Given the description of an element on the screen output the (x, y) to click on. 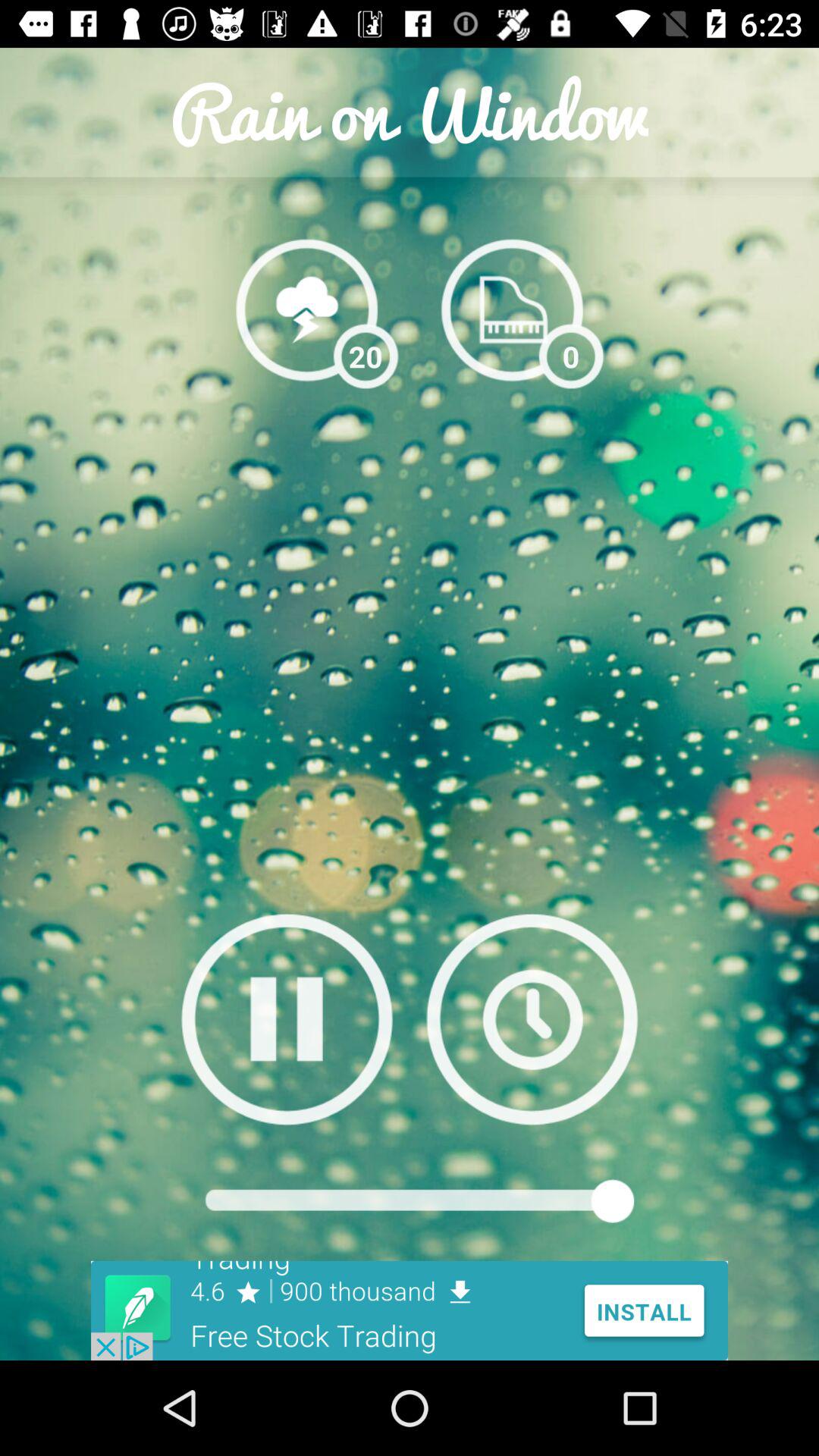
set timer (531, 1018)
